Given the description of an element on the screen output the (x, y) to click on. 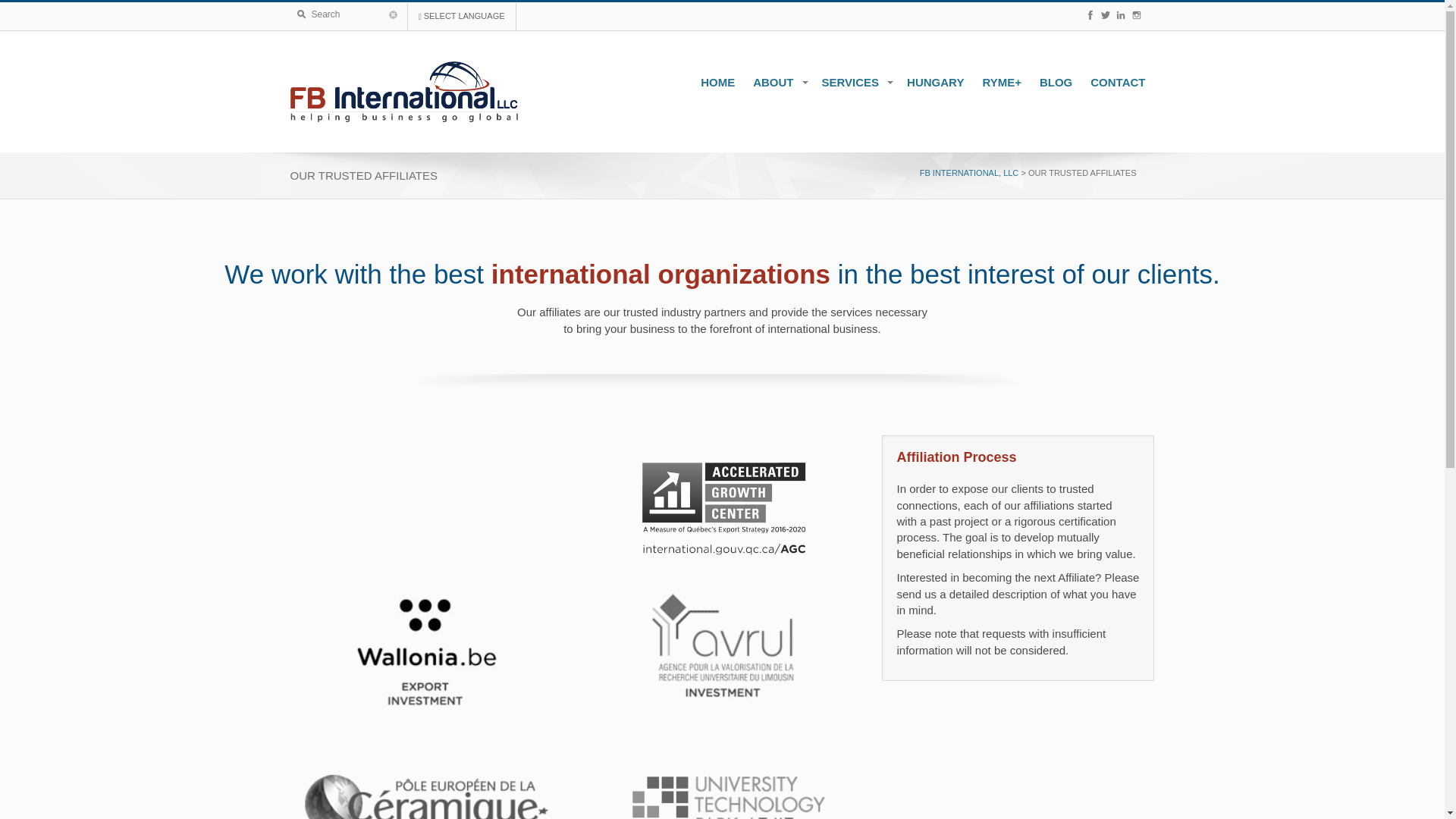
BLOG (1055, 81)
FB INTERNATIONAL, LLC (969, 172)
HUNGARY (935, 81)
HOME (717, 81)
ABOUT (778, 81)
SELECT LANGUAGE (461, 16)
clear search (392, 14)
CONTACT (1117, 81)
SERVICES (855, 81)
Go to FB International, LLC. (969, 172)
